Given the description of an element on the screen output the (x, y) to click on. 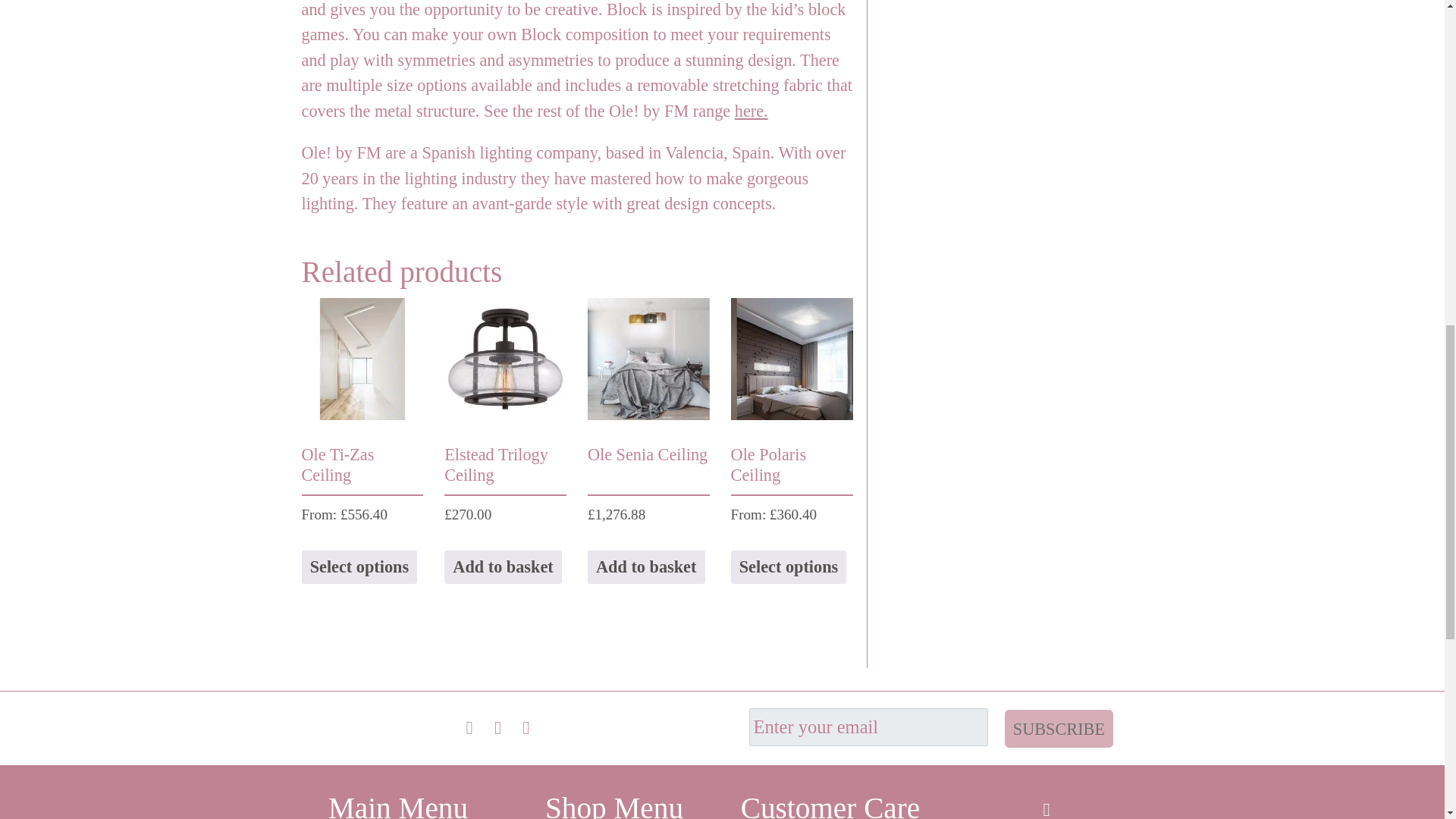
Select options (359, 567)
Add to basket (646, 567)
here. (751, 110)
Select options (788, 567)
Add to basket (503, 567)
